Given the description of an element on the screen output the (x, y) to click on. 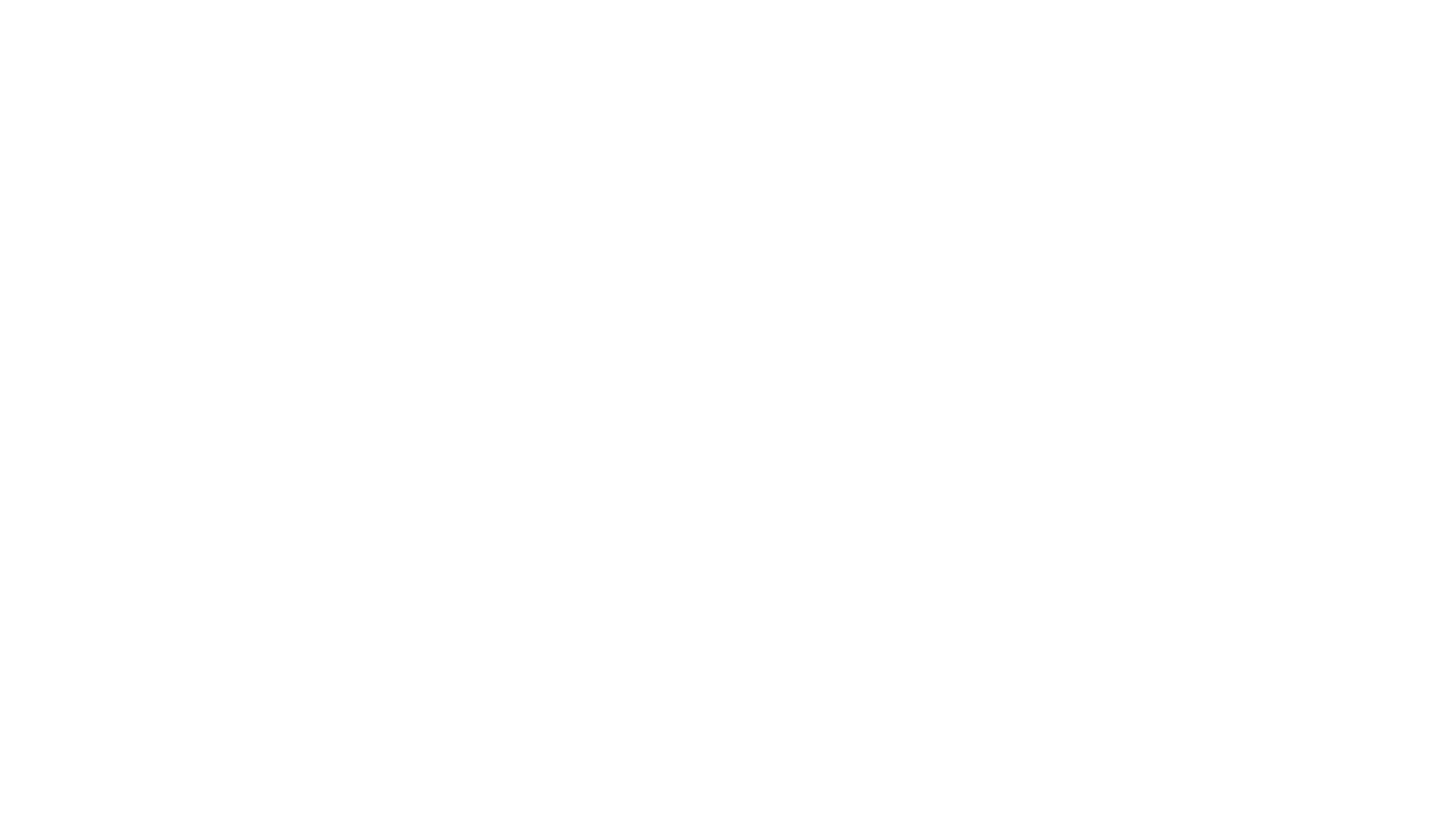
Apply Element type: text (1093, 180)
